Given the description of an element on the screen output the (x, y) to click on. 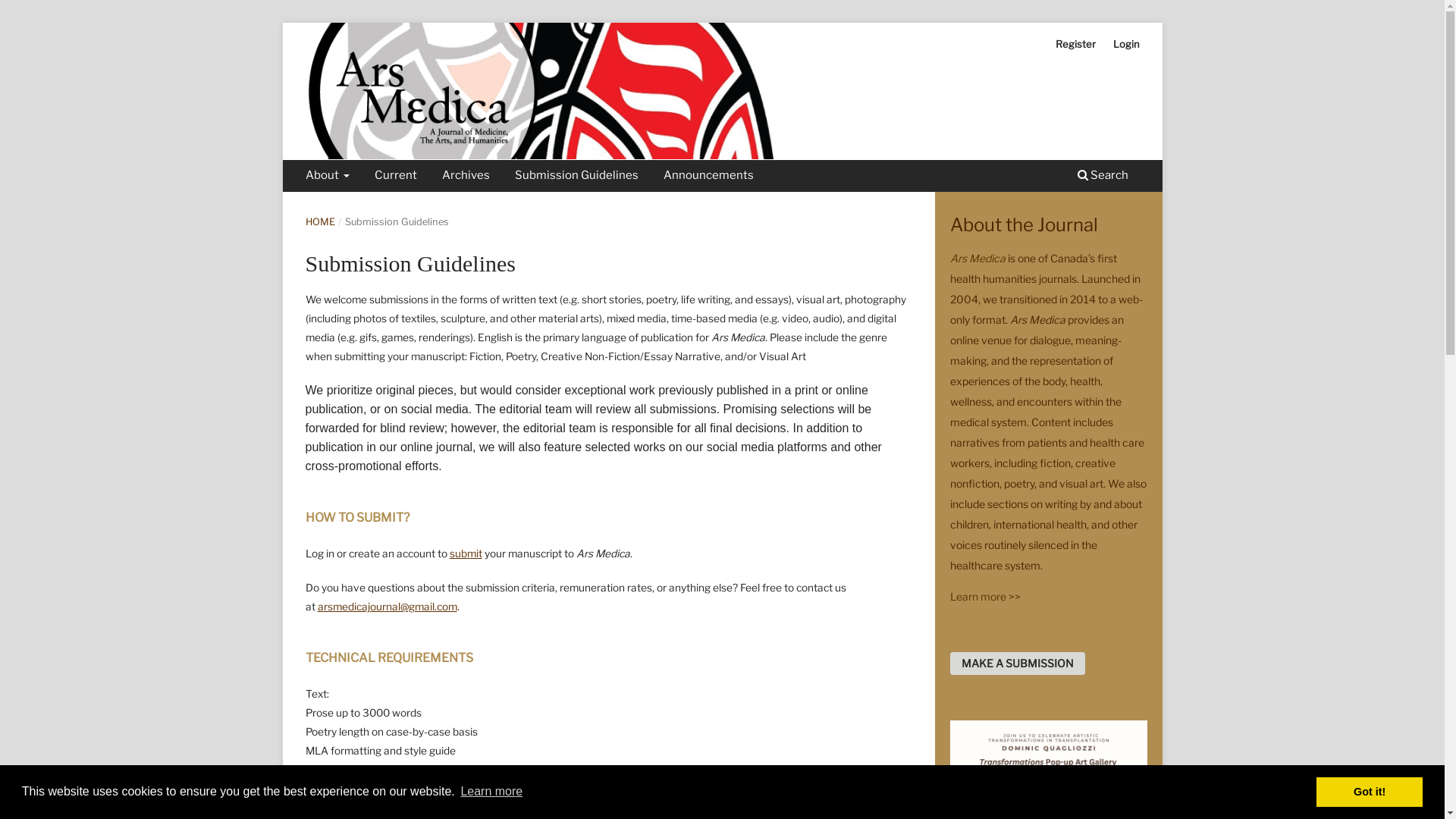
Register Element type: text (1075, 43)
Search Element type: text (1102, 176)
About Element type: text (327, 176)
MAKE A SUBMISSION Element type: text (1016, 663)
Archives Element type: text (465, 176)
Announcements Element type: text (708, 176)
Learn more >> Element type: text (984, 595)
submit Element type: text (464, 553)
HOME Element type: text (319, 221)
Current Element type: text (396, 176)
Login Element type: text (1126, 43)
Submission Guidelines Element type: text (576, 176)
Got it! Element type: text (1369, 791)
Ars Medica Element type: text (976, 257)
arsmedicajournal@gmail.com Element type: text (386, 606)
Learn more Element type: text (491, 791)
